Given the description of an element on the screen output the (x, y) to click on. 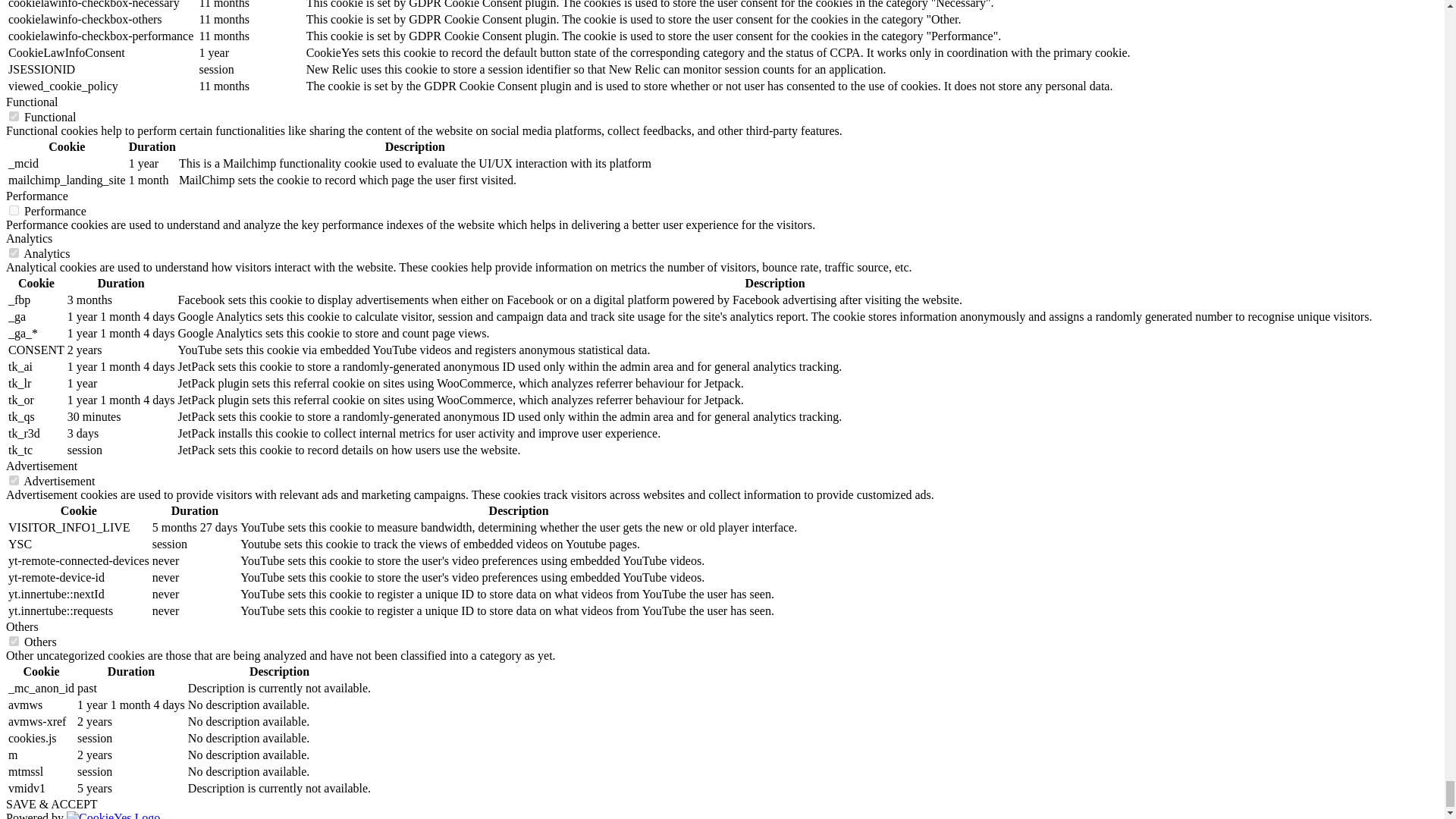
on (13, 210)
on (13, 480)
on (13, 641)
on (13, 116)
on (13, 252)
